Given the description of an element on the screen output the (x, y) to click on. 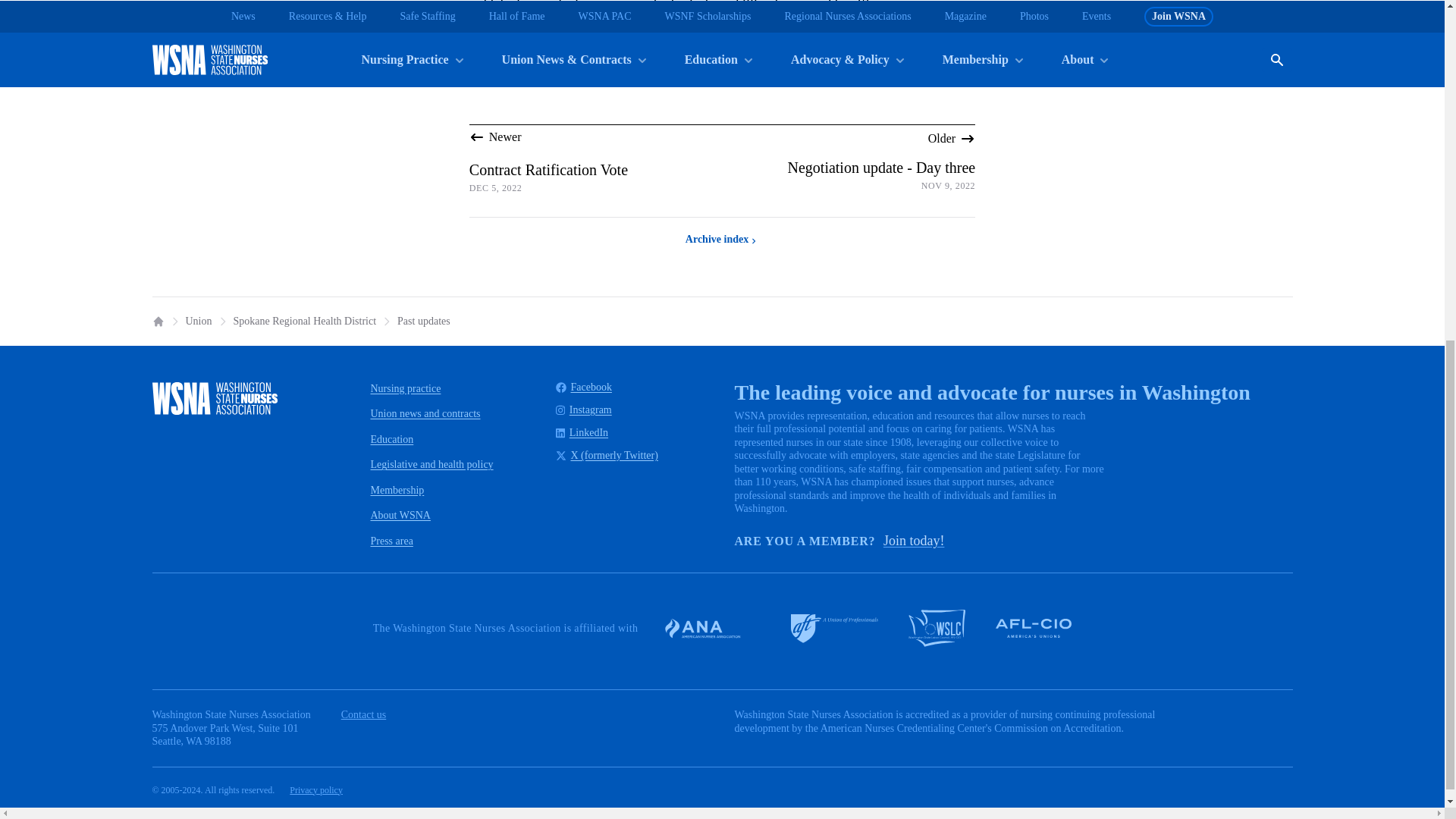
AFL-CIO (1033, 628)
American Nurses Association (711, 628)
Washington State Labor Council (936, 627)
Washington State Nurses Association (213, 398)
AFT - A Union of Professionals (833, 628)
